Given the description of an element on the screen output the (x, y) to click on. 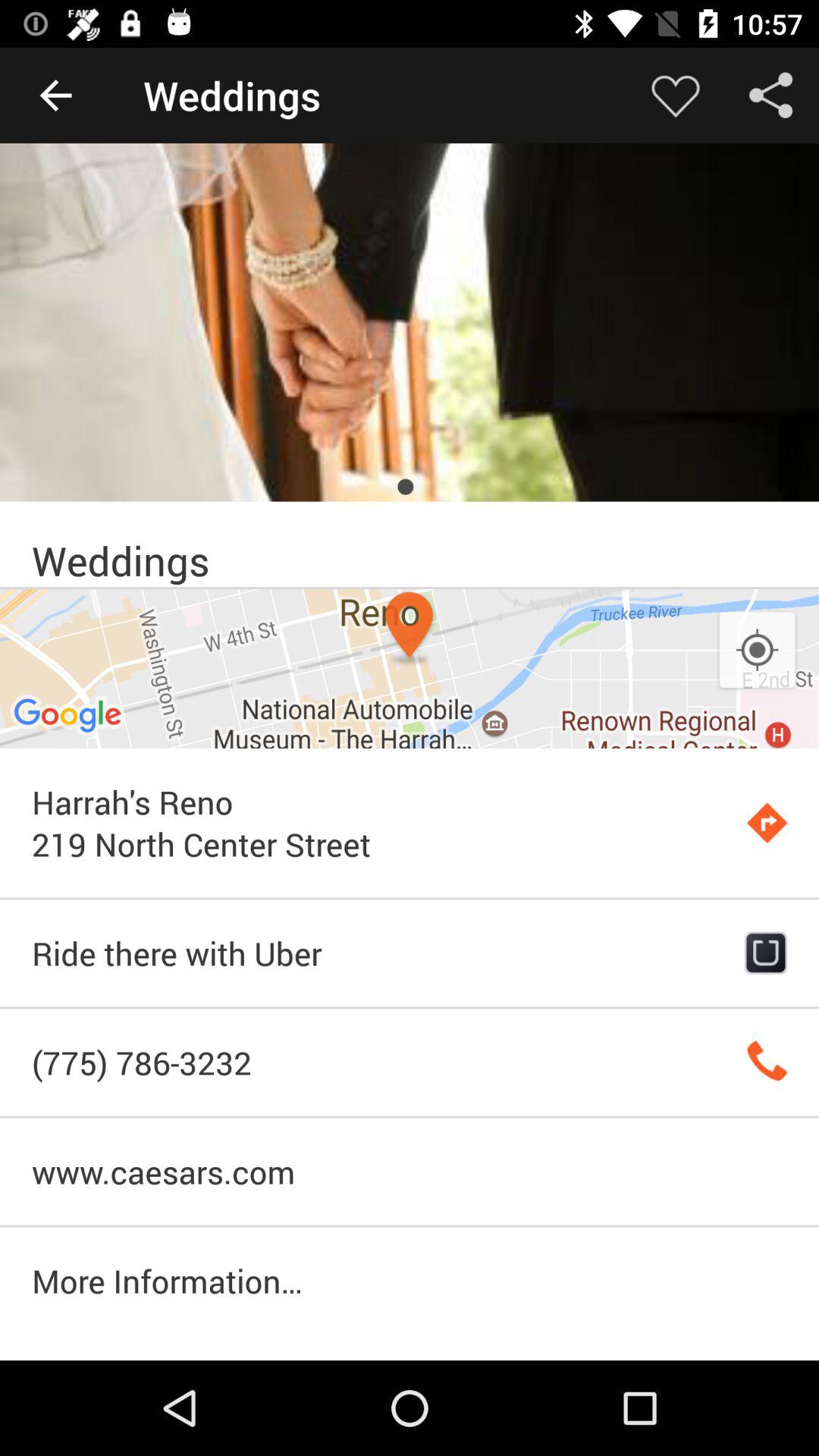
launch item above the harrah s reno item (409, 668)
